Given the description of an element on the screen output the (x, y) to click on. 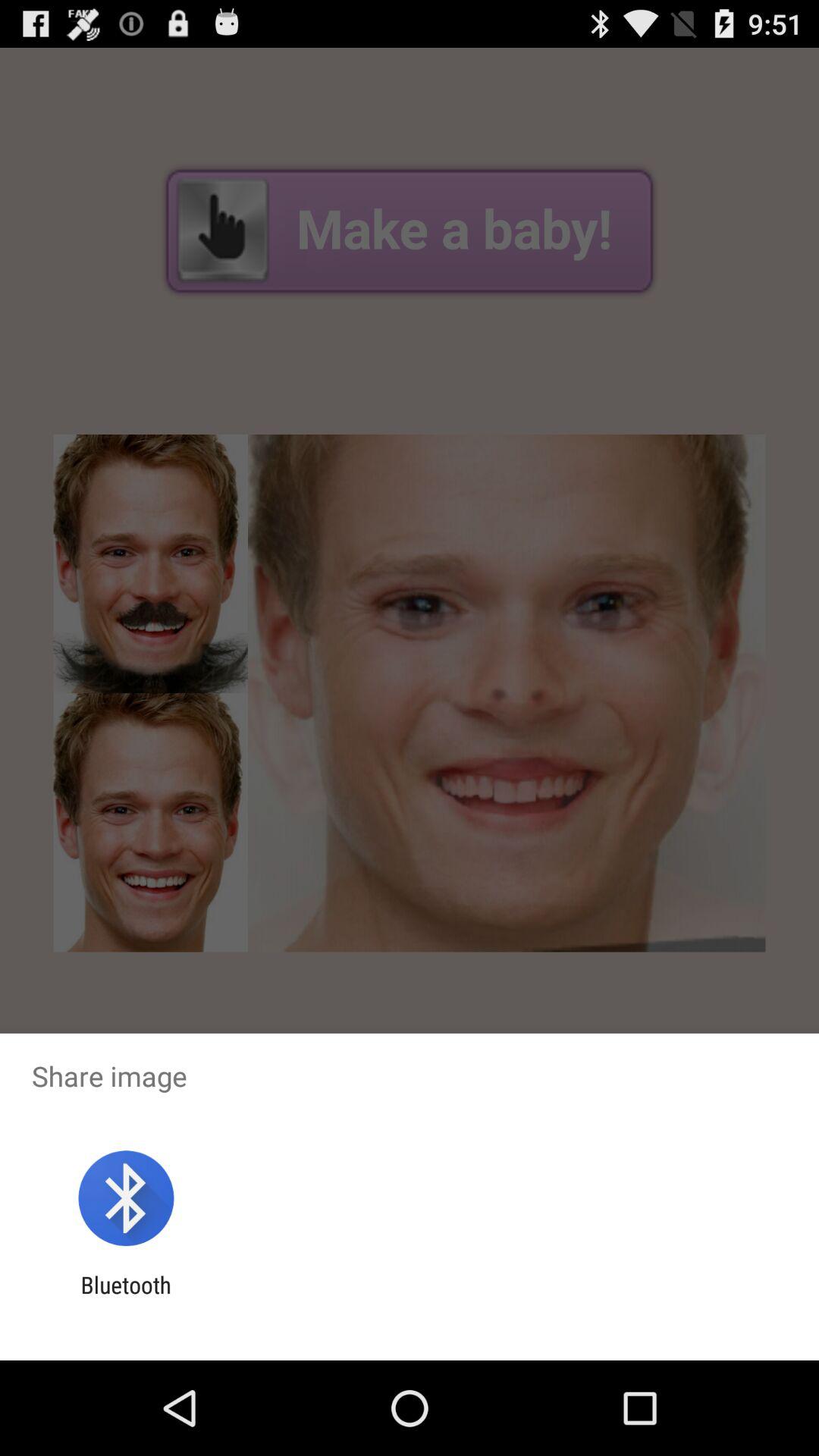
turn off the bluetooth item (125, 1298)
